Given the description of an element on the screen output the (x, y) to click on. 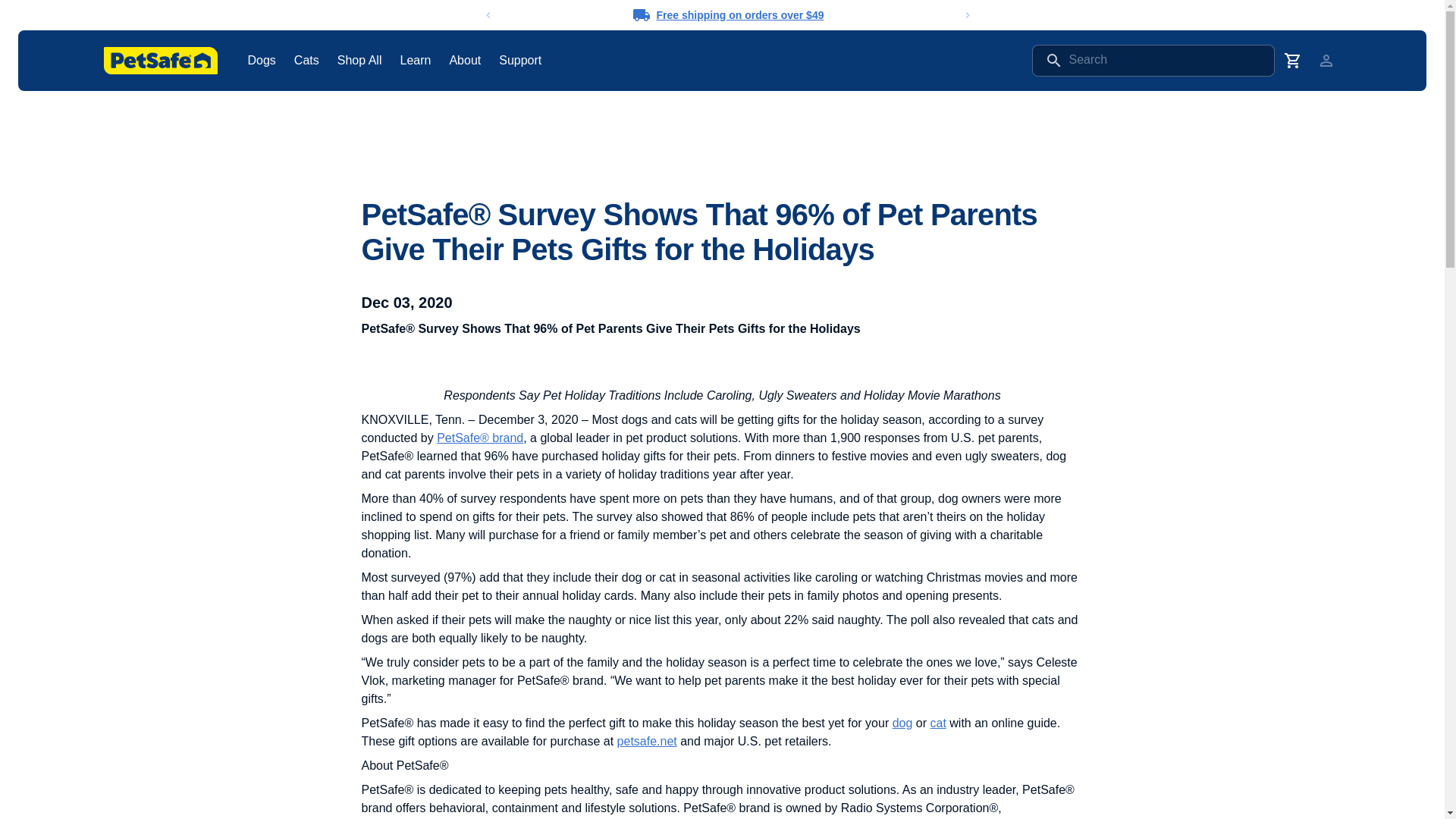
Support (520, 60)
dog (902, 722)
cat (937, 722)
petsafe.net (647, 740)
Shop All (359, 60)
